Given the description of an element on the screen output the (x, y) to click on. 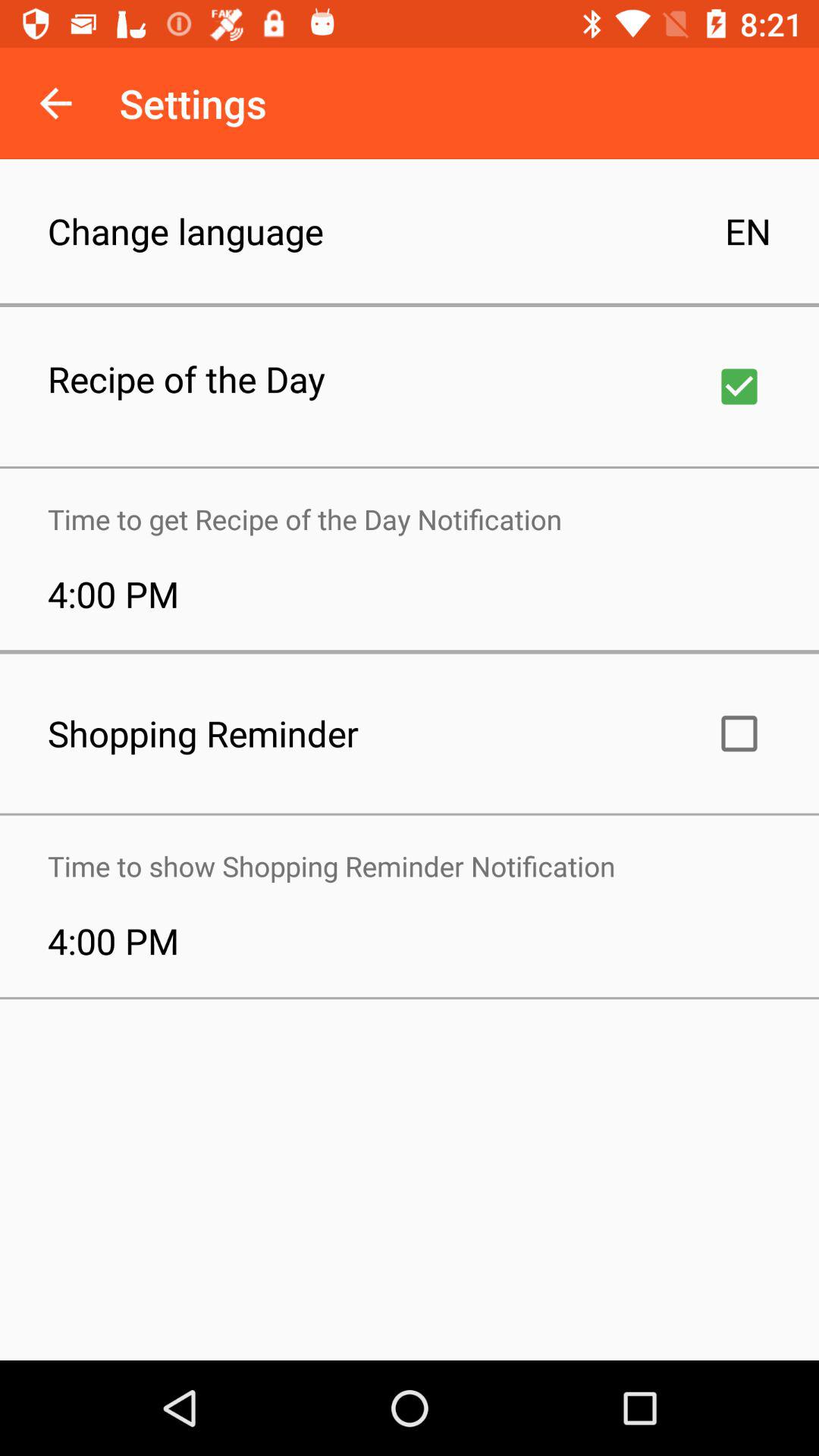
select icon above the change language (55, 103)
